Given the description of an element on the screen output the (x, y) to click on. 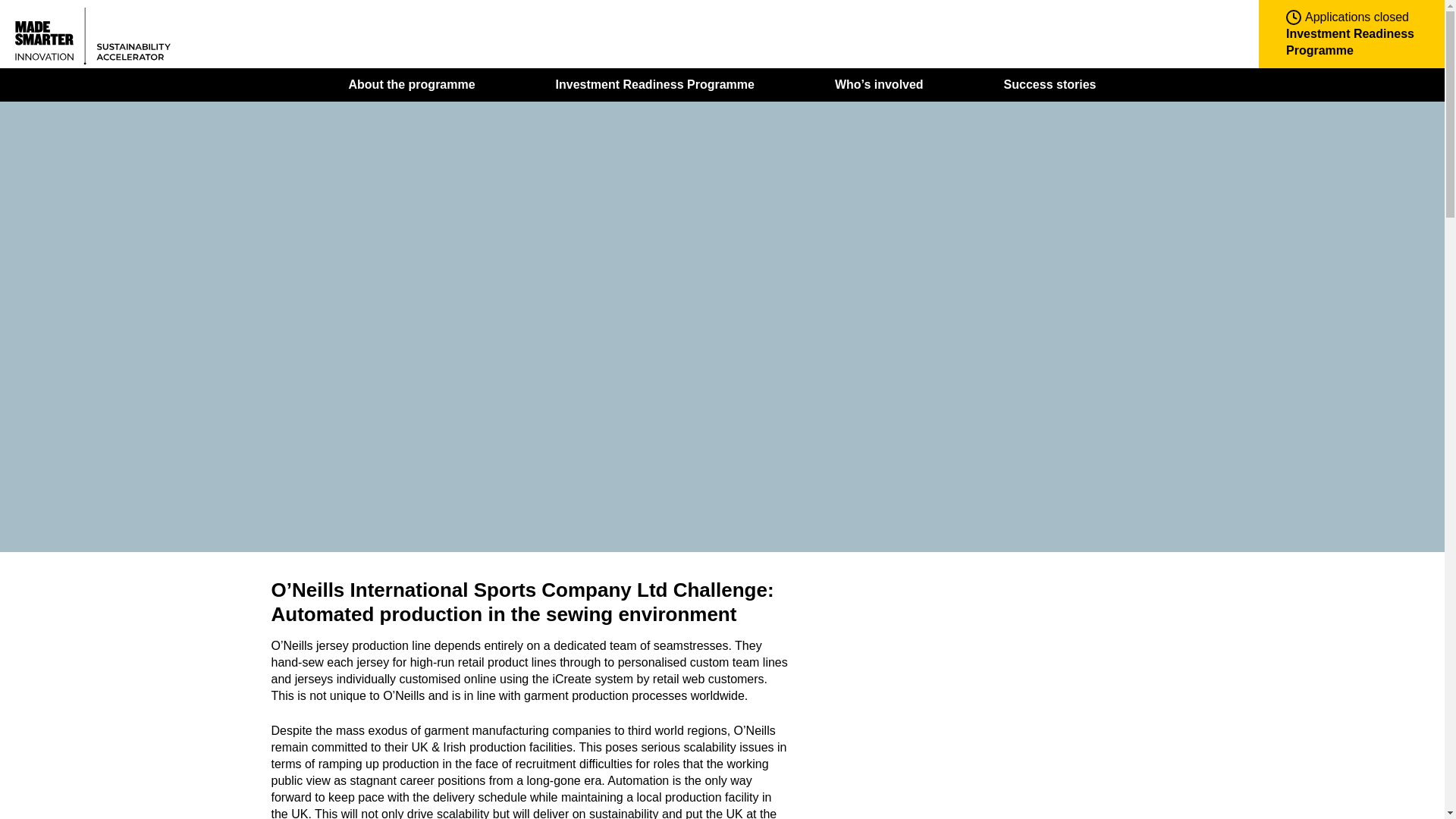
Success stories (1050, 84)
Investment Readiness Programme (655, 84)
About the programme (412, 84)
